Given the description of an element on the screen output the (x, y) to click on. 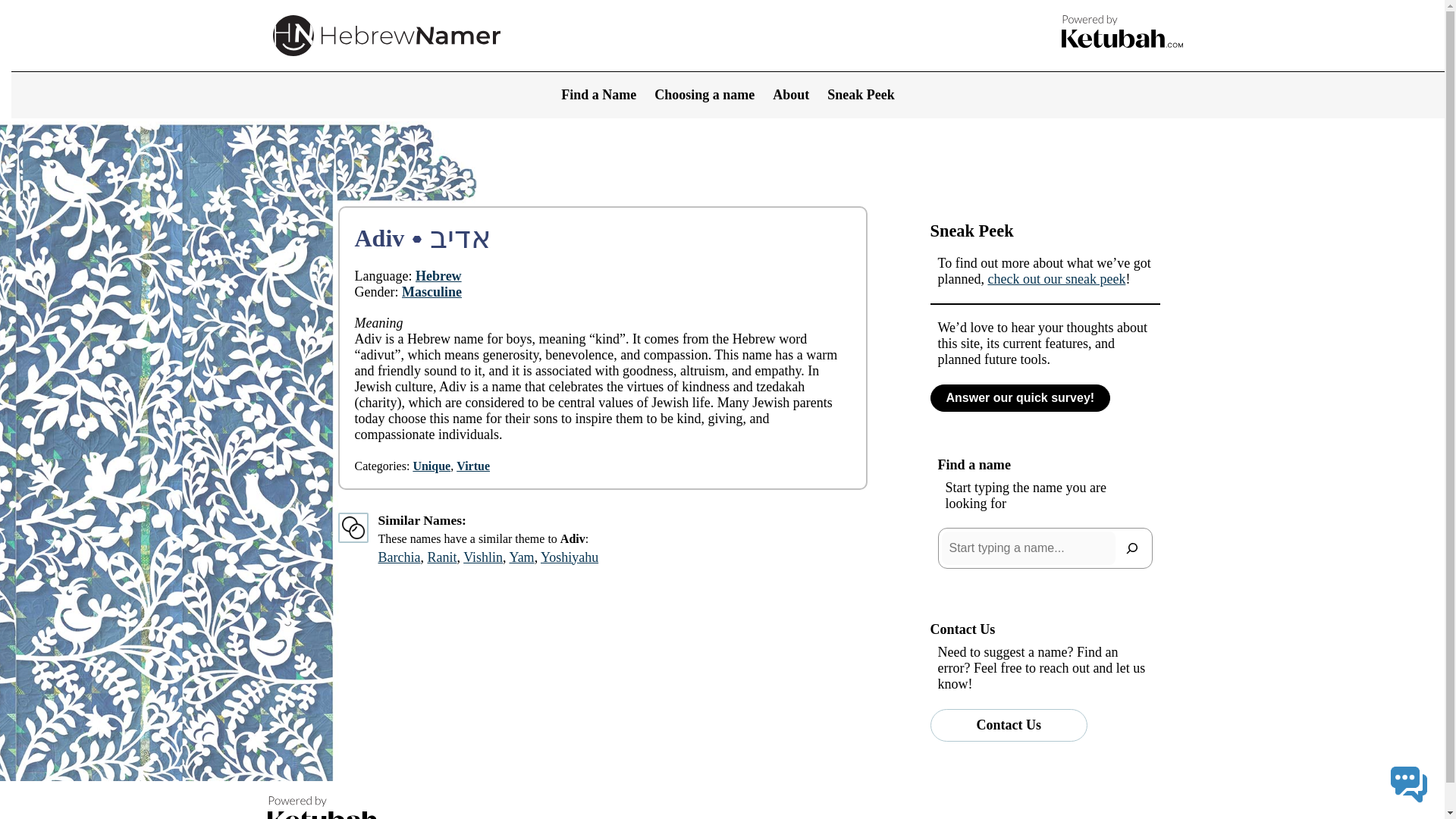
Ranit (441, 557)
Answer our quick survey! (1019, 397)
check out our sneak peek (1056, 278)
Choosing a name (703, 94)
Sneak Peek (861, 94)
Vishlin (482, 557)
Contact Us (1008, 725)
Yam (521, 557)
Unique (430, 465)
Barchia (398, 557)
Yoshiyahu (569, 557)
Virtue (473, 465)
Hebrew (437, 275)
Find a Name (598, 94)
Terms of Service (1137, 818)
